Given the description of an element on the screen output the (x, y) to click on. 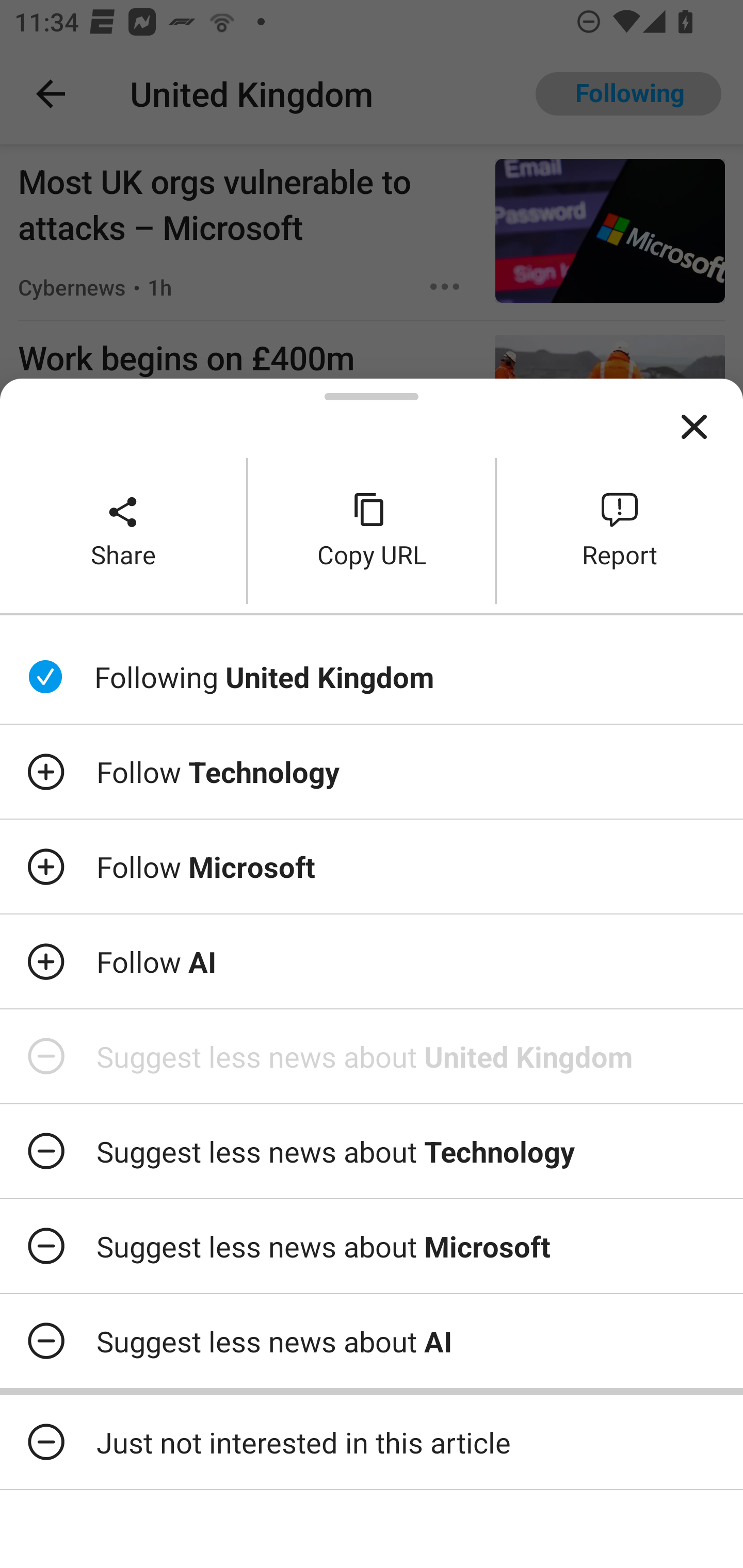
Close (694, 426)
Share (122, 530)
Copy URL (371, 530)
Report (620, 530)
Following United Kingdom (371, 677)
Follow Technology (371, 771)
Follow Microsoft (371, 867)
Follow AI (371, 961)
Suggest less news about Technology (371, 1150)
Suggest less news about Microsoft (371, 1246)
Suggest less news about AI (371, 1340)
Just not interested in this article (371, 1442)
